Given the description of an element on the screen output the (x, y) to click on. 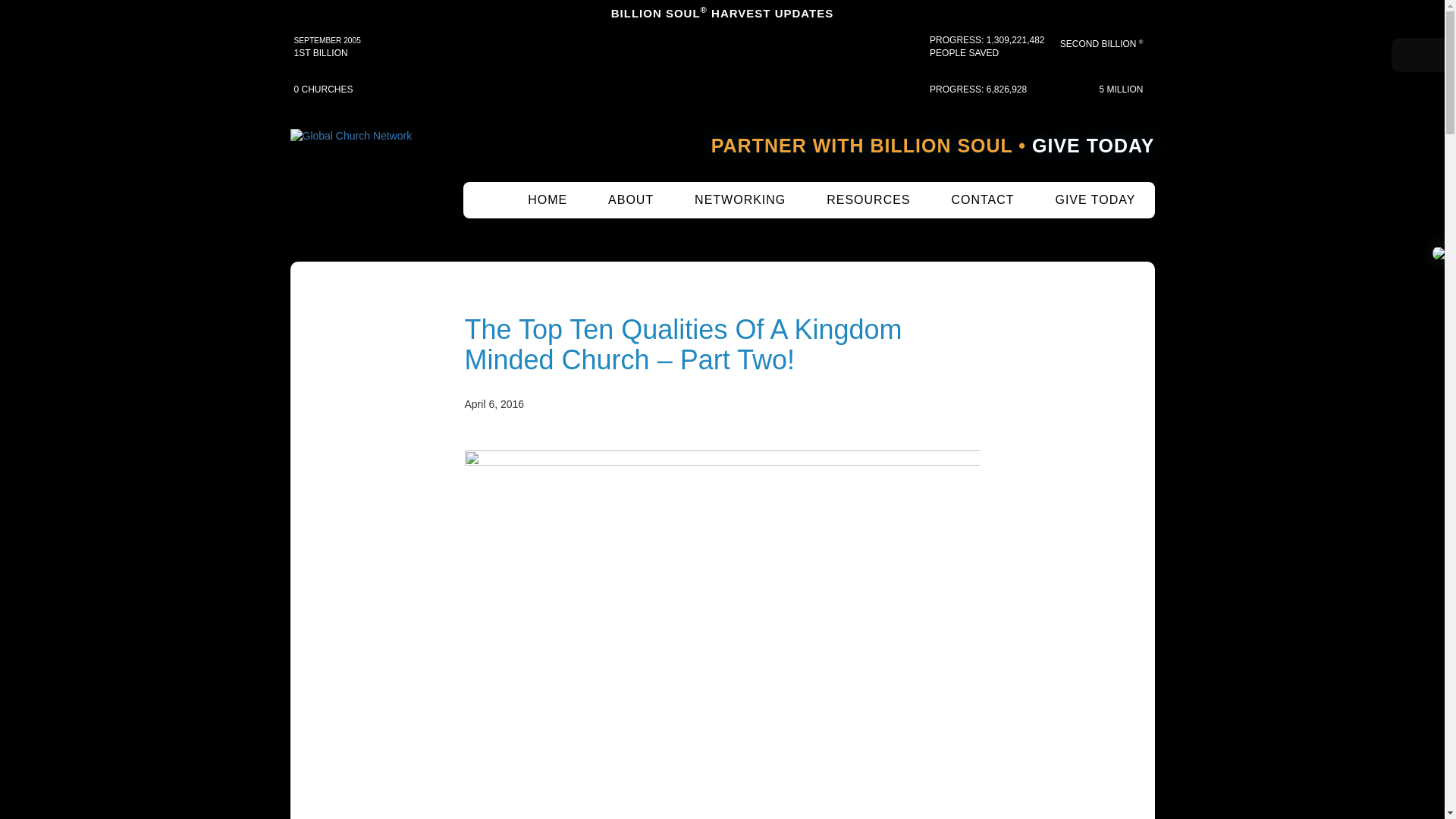
GIVE TODAY (1093, 145)
HOME (547, 199)
NETWORKING (740, 199)
ABOUT (630, 199)
CONTACT (981, 199)
RESOURCES (868, 199)
GIVE TODAY (1094, 199)
